Given the description of an element on the screen output the (x, y) to click on. 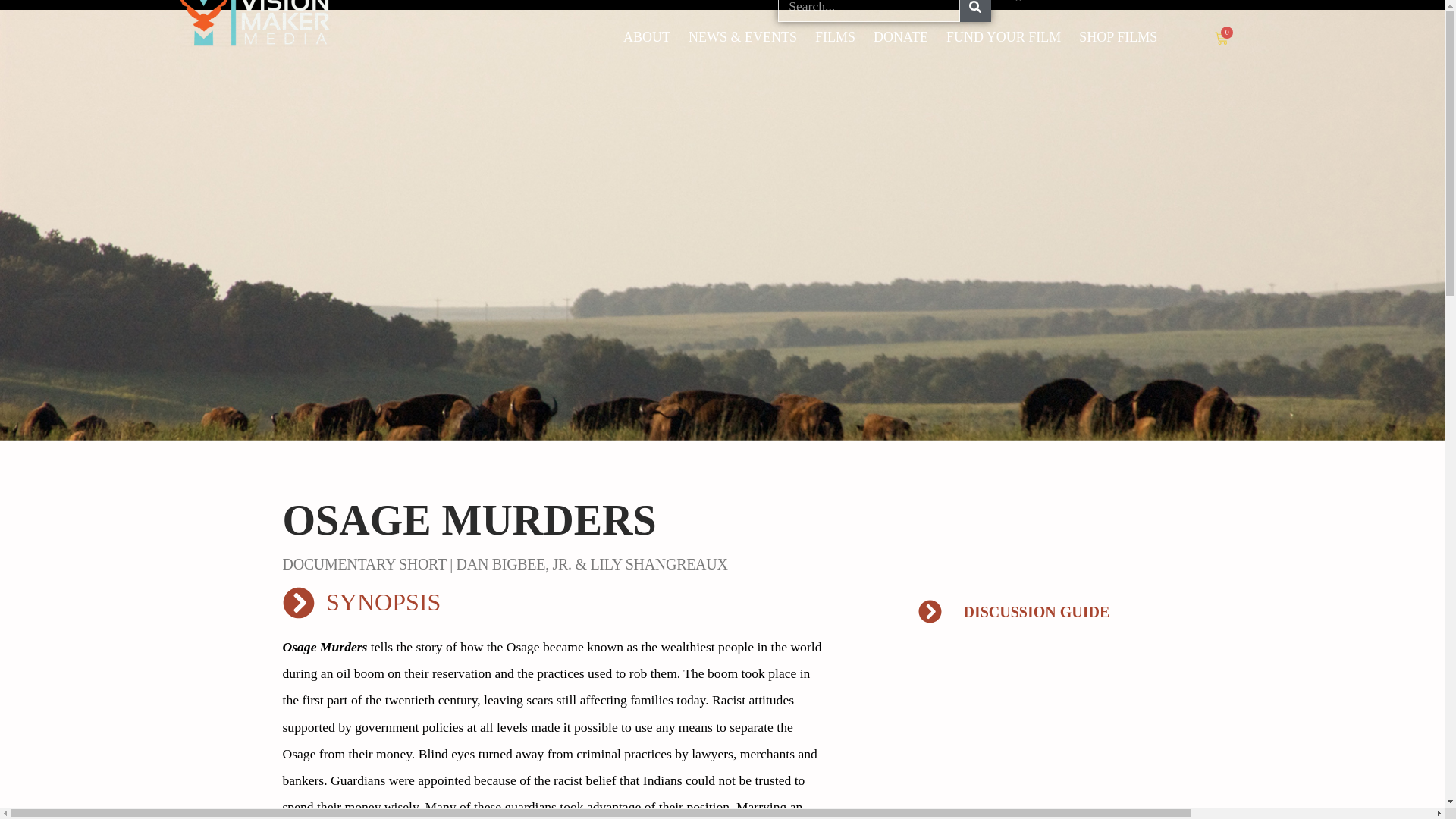
DONATE (900, 36)
FUND YOUR FILM (1003, 36)
FILMS (835, 36)
SHOP FILMS (1118, 36)
DISCUSSION GUIDE (1051, 611)
ABOUT (646, 36)
